Given the description of an element on the screen output the (x, y) to click on. 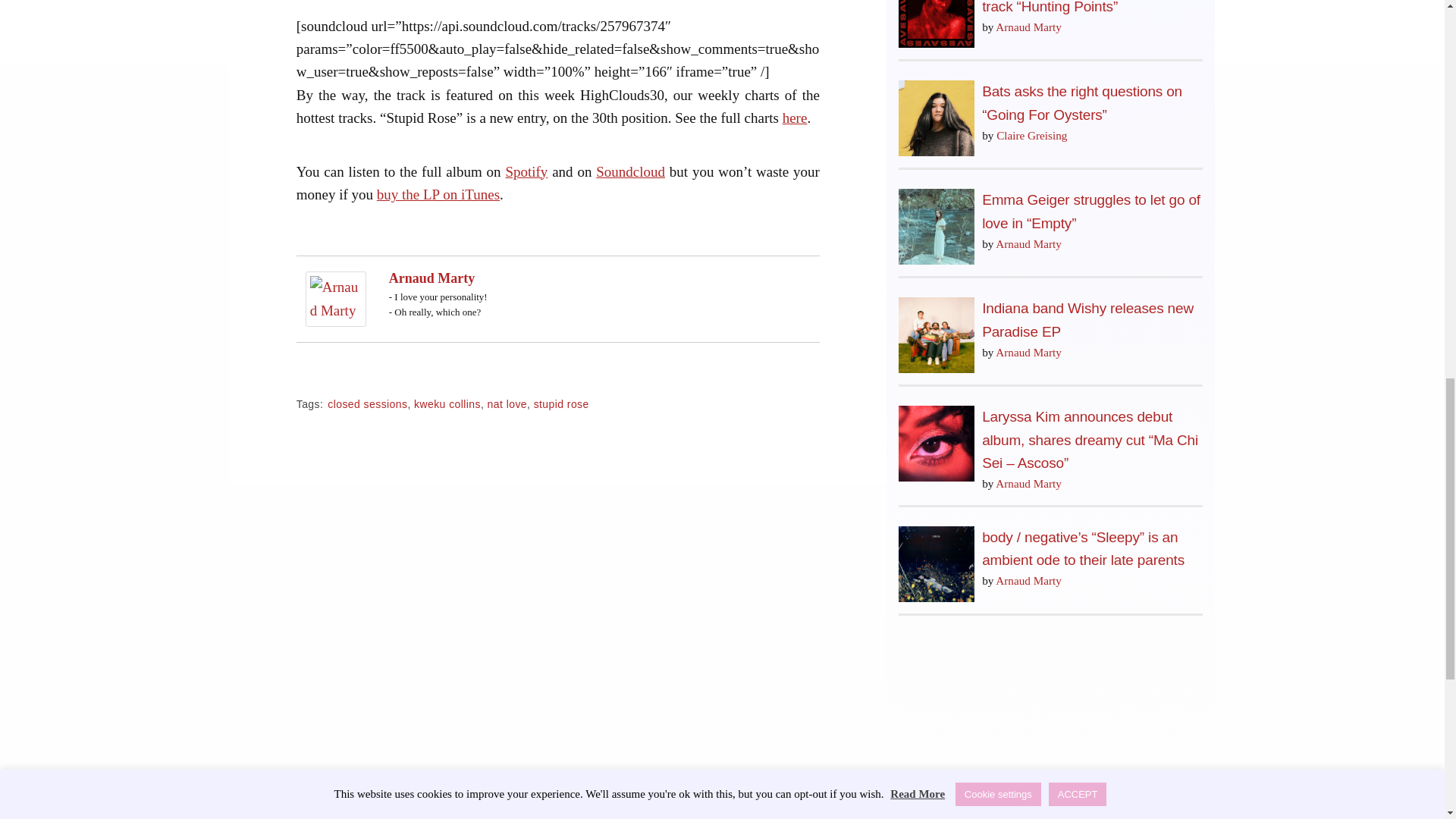
Arnaud Marty (335, 297)
Spotify (526, 170)
here (795, 117)
buy the LP on iTunes (438, 194)
Arnaud Marty (432, 278)
kweku collins (446, 404)
closed sessions (367, 404)
Soundcloud (630, 170)
